Given the description of an element on the screen output the (x, y) to click on. 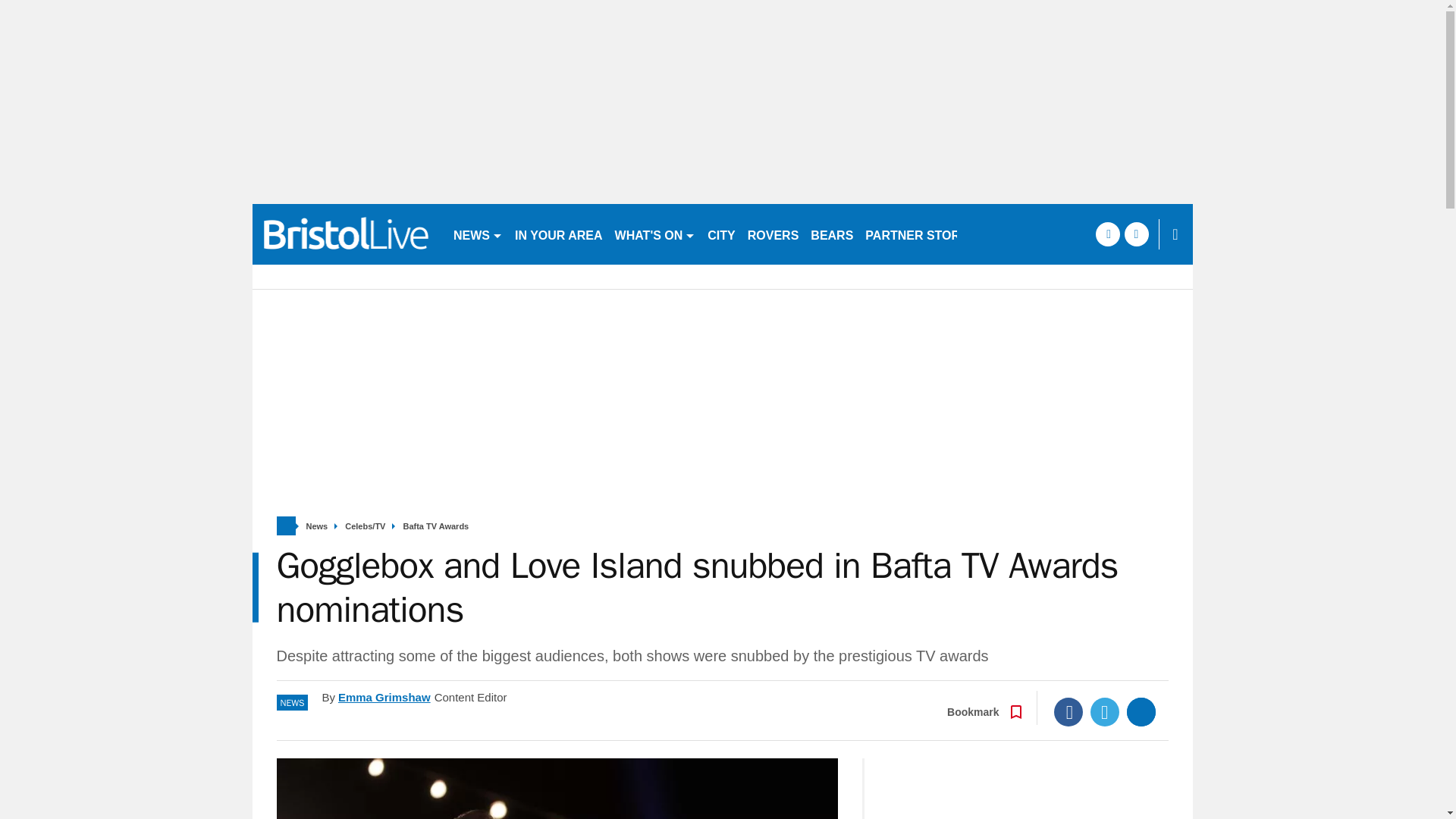
PARTNER STORIES (922, 233)
Twitter (1104, 711)
Facebook (1068, 711)
NEWS (477, 233)
facebook (1106, 233)
ROVERS (773, 233)
bristolpost (345, 233)
twitter (1136, 233)
IN YOUR AREA (558, 233)
BEARS (832, 233)
WHAT'S ON (654, 233)
